Given the description of an element on the screen output the (x, y) to click on. 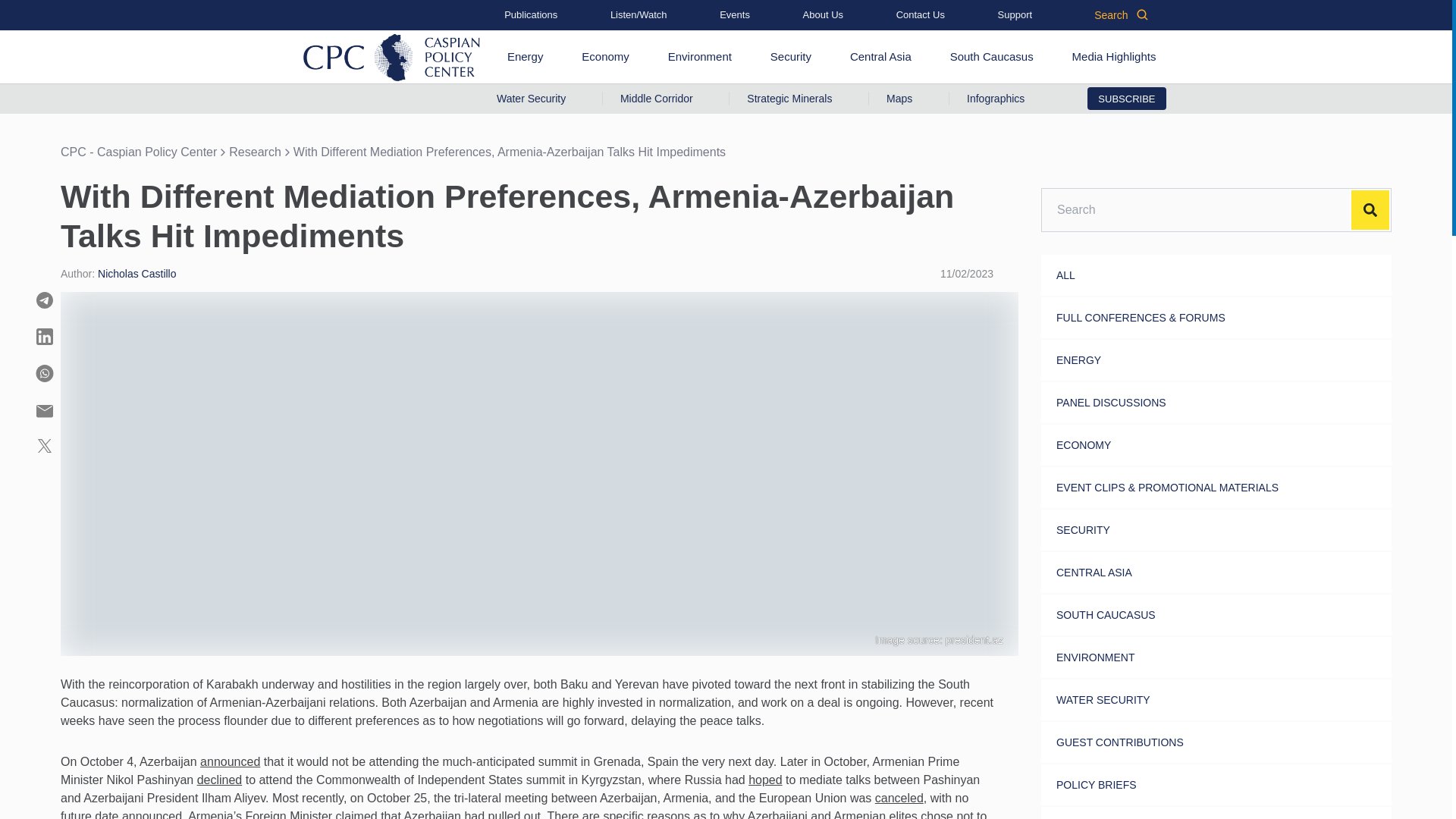
Events (734, 15)
Central Asia (880, 56)
About Us (823, 15)
South Caucasus (991, 56)
Environment (700, 56)
Security (790, 56)
Support (1014, 15)
Search (1120, 15)
Energy (525, 56)
Contact Us (920, 15)
Economy (605, 56)
